Given the description of an element on the screen output the (x, y) to click on. 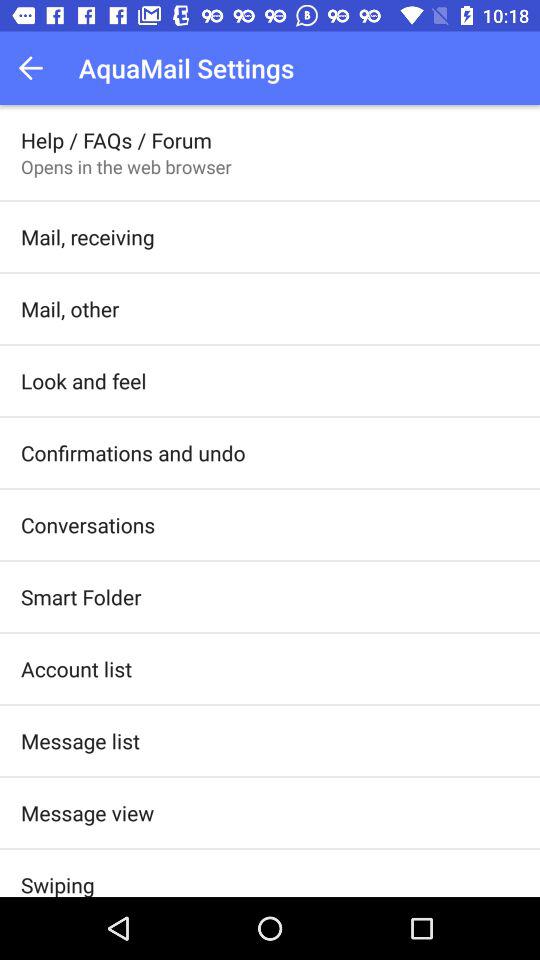
swipe to opens in the icon (126, 166)
